Given the description of an element on the screen output the (x, y) to click on. 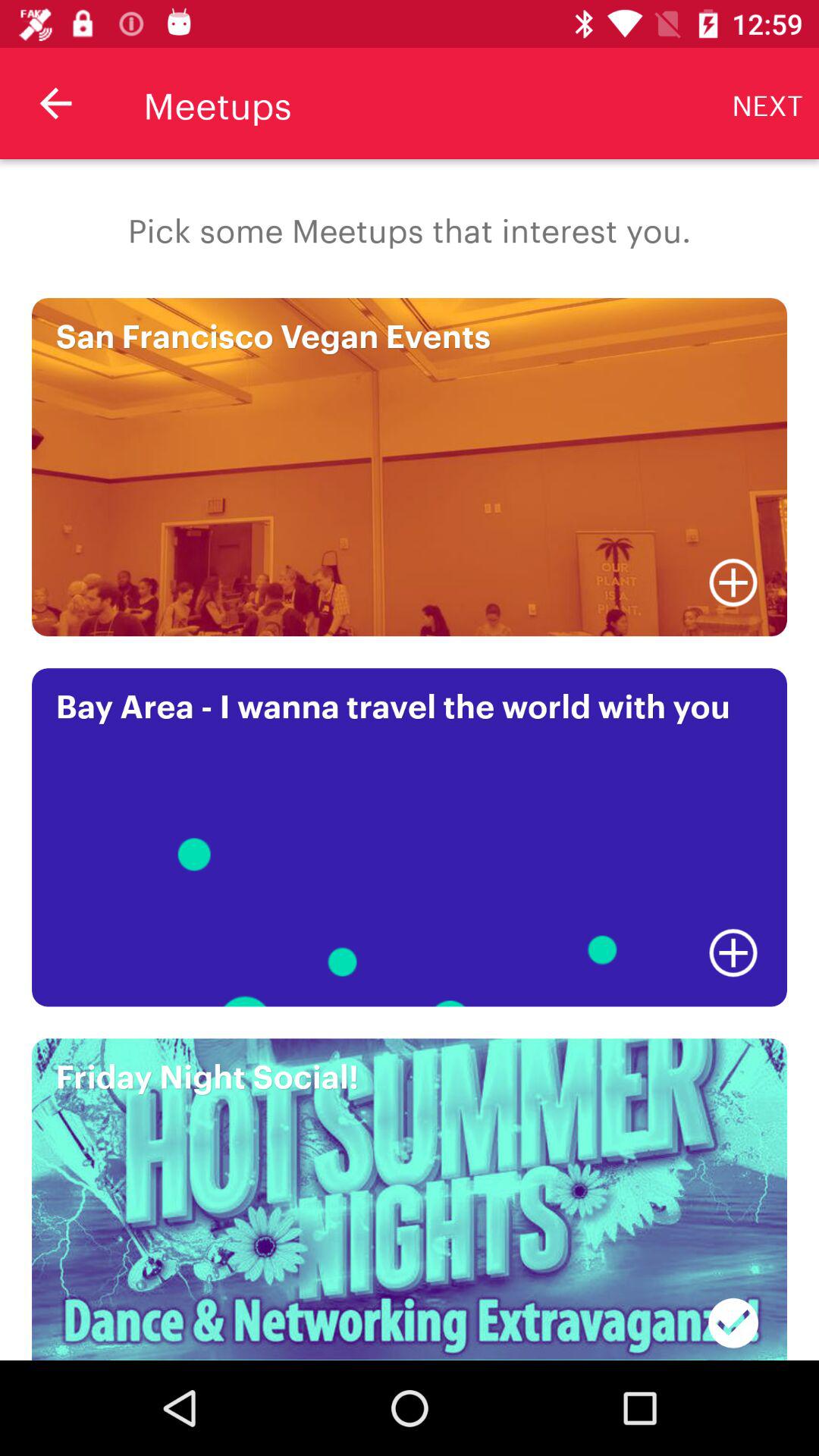
turn off icon next to the meetups icon (767, 103)
